Given the description of an element on the screen output the (x, y) to click on. 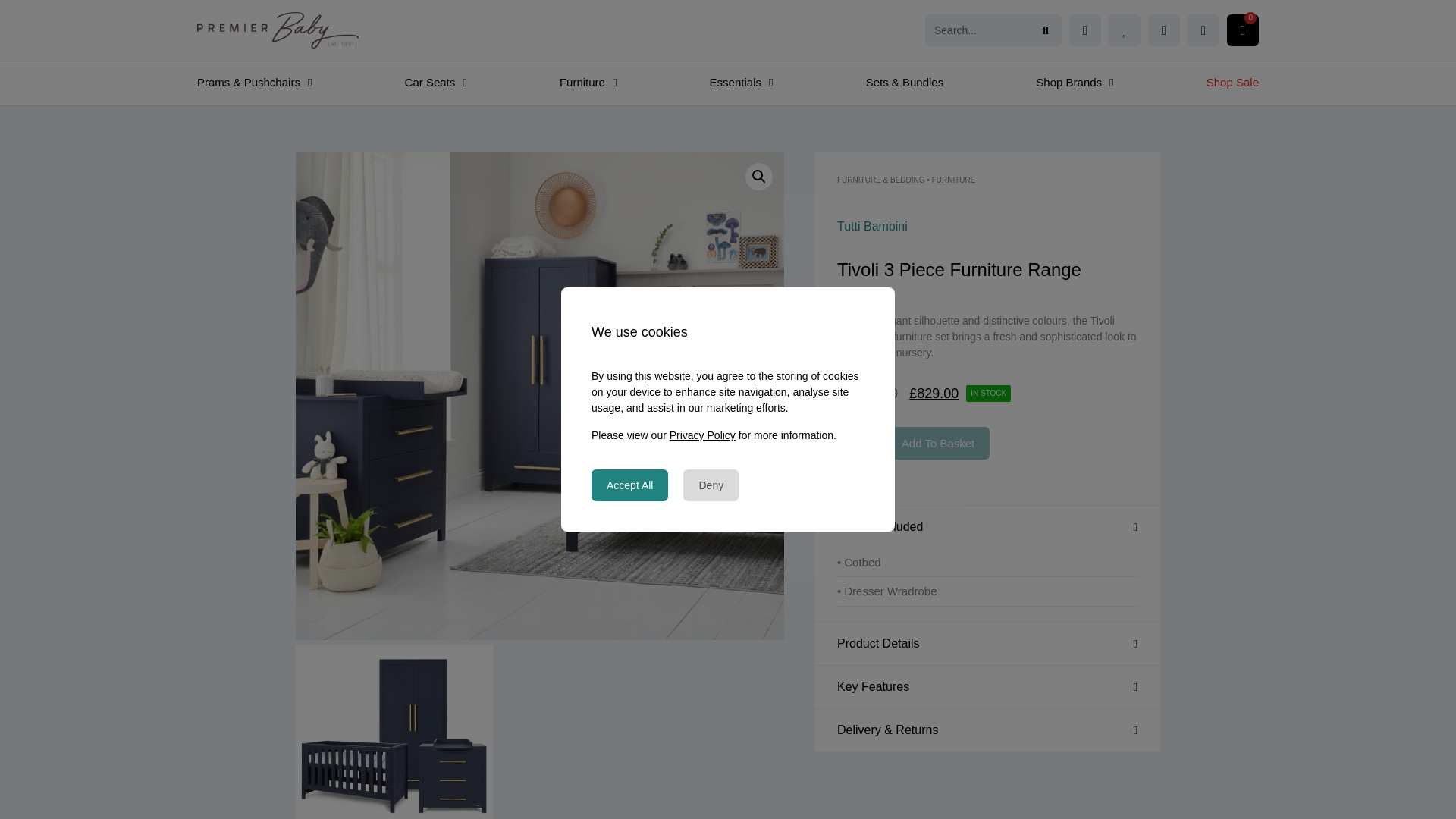
Essentials (741, 82)
Furniture (588, 82)
1 (856, 442)
Car Seats (435, 82)
0 (1243, 29)
